Given the description of an element on the screen output the (x, y) to click on. 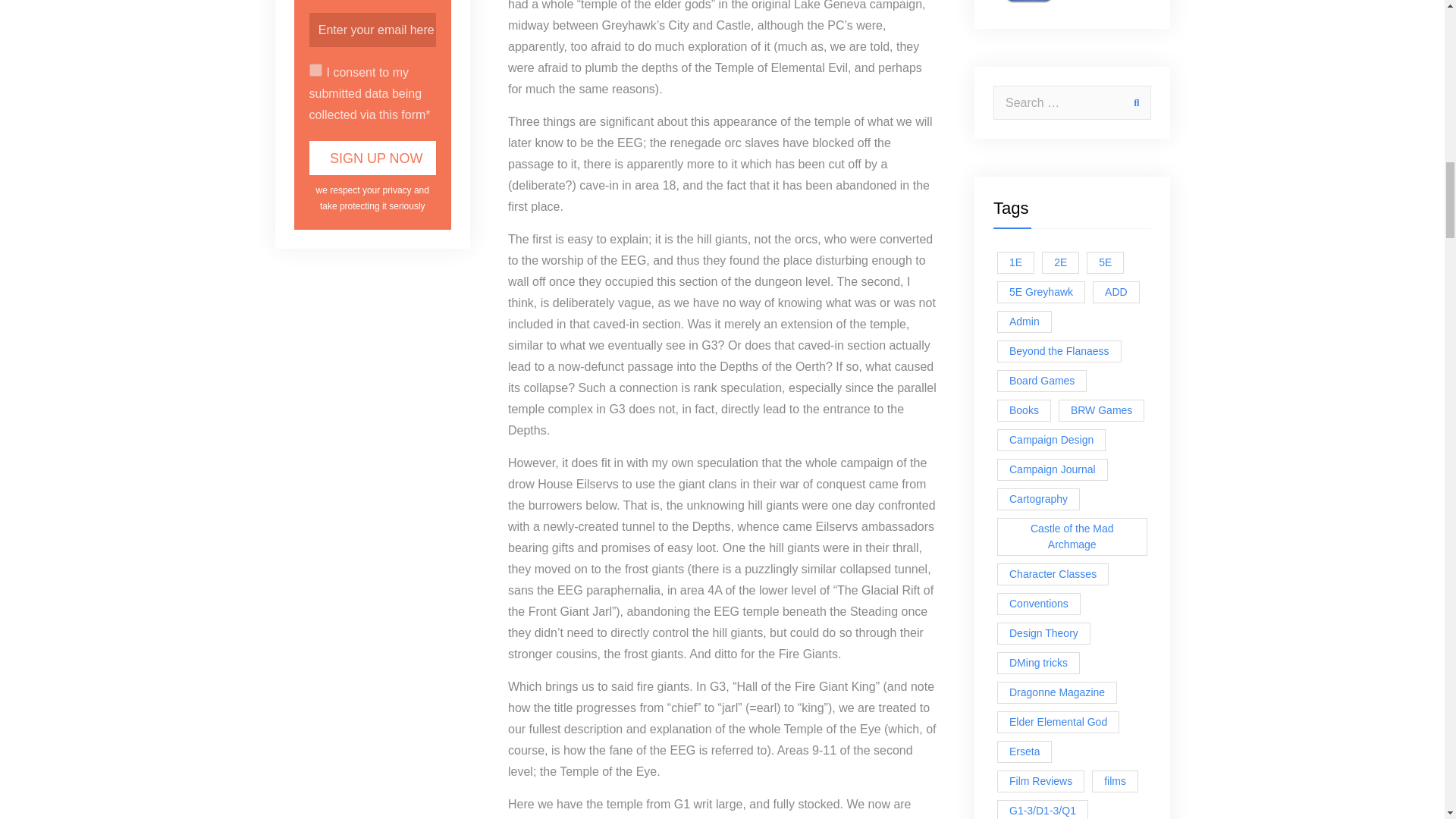
Sign Up Now (372, 157)
on (314, 69)
